Given the description of an element on the screen output the (x, y) to click on. 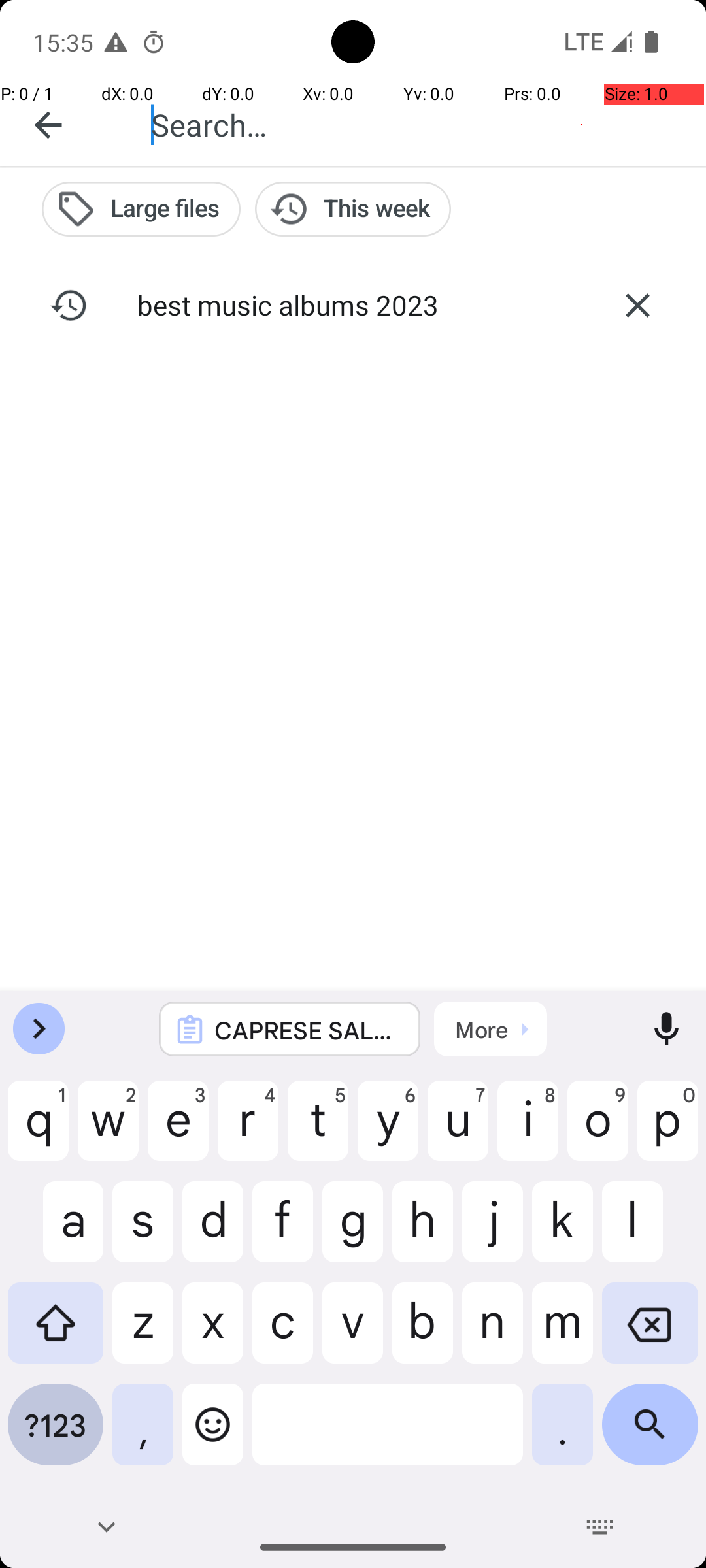
best music albums 2023 Element type: android.widget.TextView (352, 304)
Delete search history best music albums 2023 Element type: android.widget.ImageView (637, 304)
CAPRESE SALAD SKEWERS  Servings: 1 serving Time: 45 mins  A quick and easy meal, perfect for busy weekdays.  Ingredients: - n/a  Directions: 1. Thread cherry tomatoes, basil leaves, and mozzarella balls onto skewers. Drizzle with balsamic glaze. Feel free to substitute with ingredients you have on hand.  Shared with https://play.google.com/store/apps/details?id=com.flauschcode.broccoli Element type: android.widget.TextView (306, 1029)
